Given the description of an element on the screen output the (x, y) to click on. 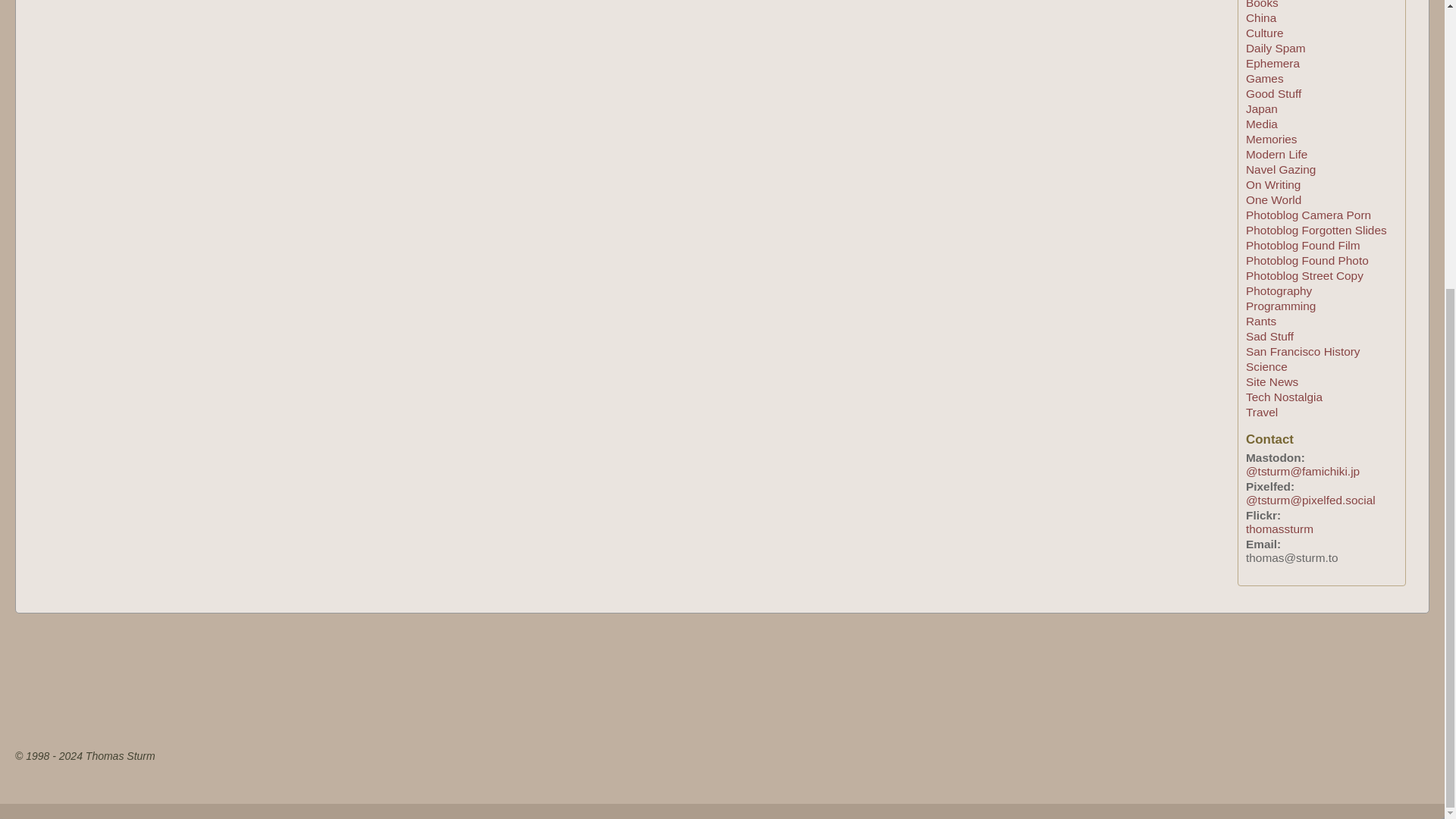
Media (1262, 123)
Memories (1271, 138)
Daily Spam (1276, 47)
Modern Life (1276, 154)
Photoblog Camera Porn (1308, 214)
Books (1262, 4)
Photography (1278, 290)
Photoblog Found Film (1302, 245)
Programming (1281, 305)
Photoblog Found Photo (1307, 259)
